Given the description of an element on the screen output the (x, y) to click on. 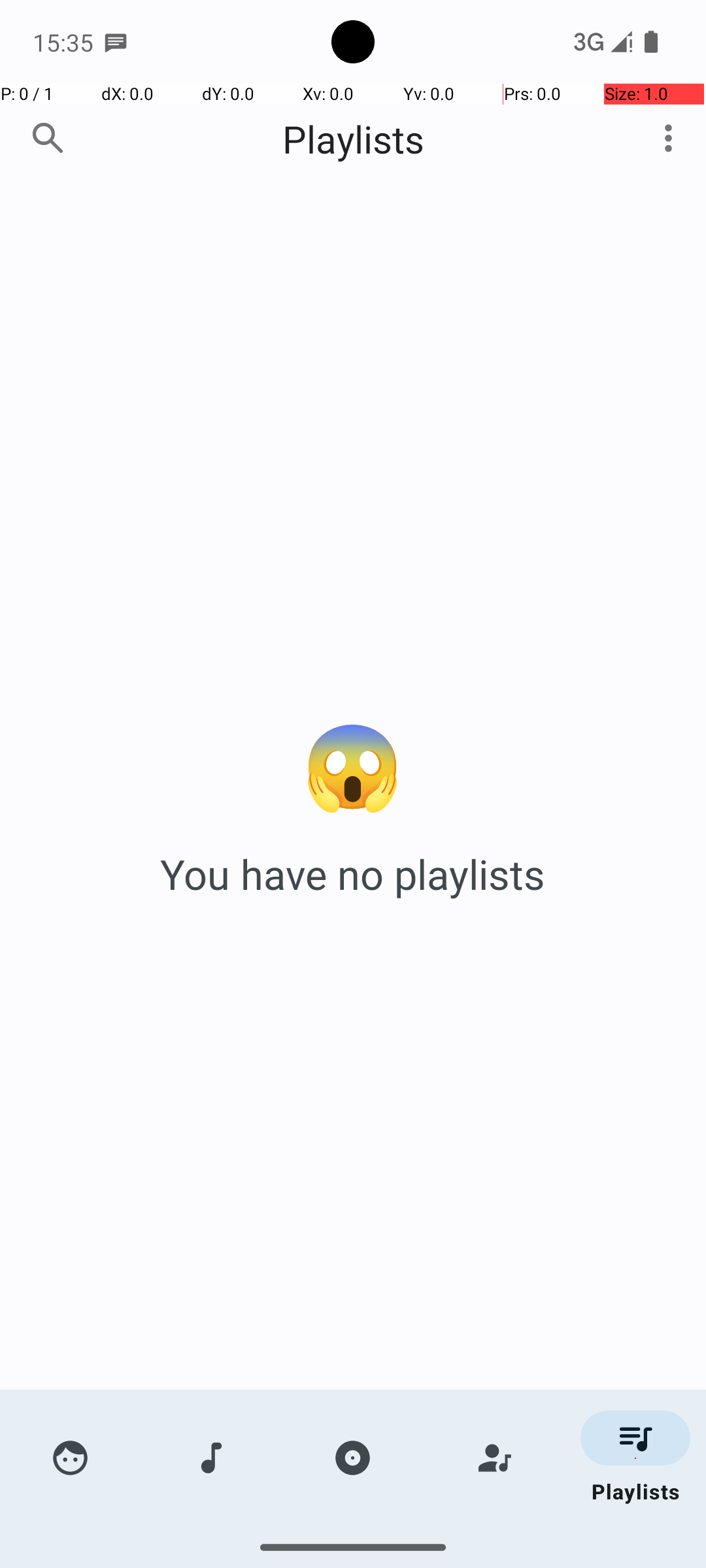
😱 Element type: android.widget.TextView (352, 763)
You have no playlists Element type: android.widget.TextView (352, 873)
